Given the description of an element on the screen output the (x, y) to click on. 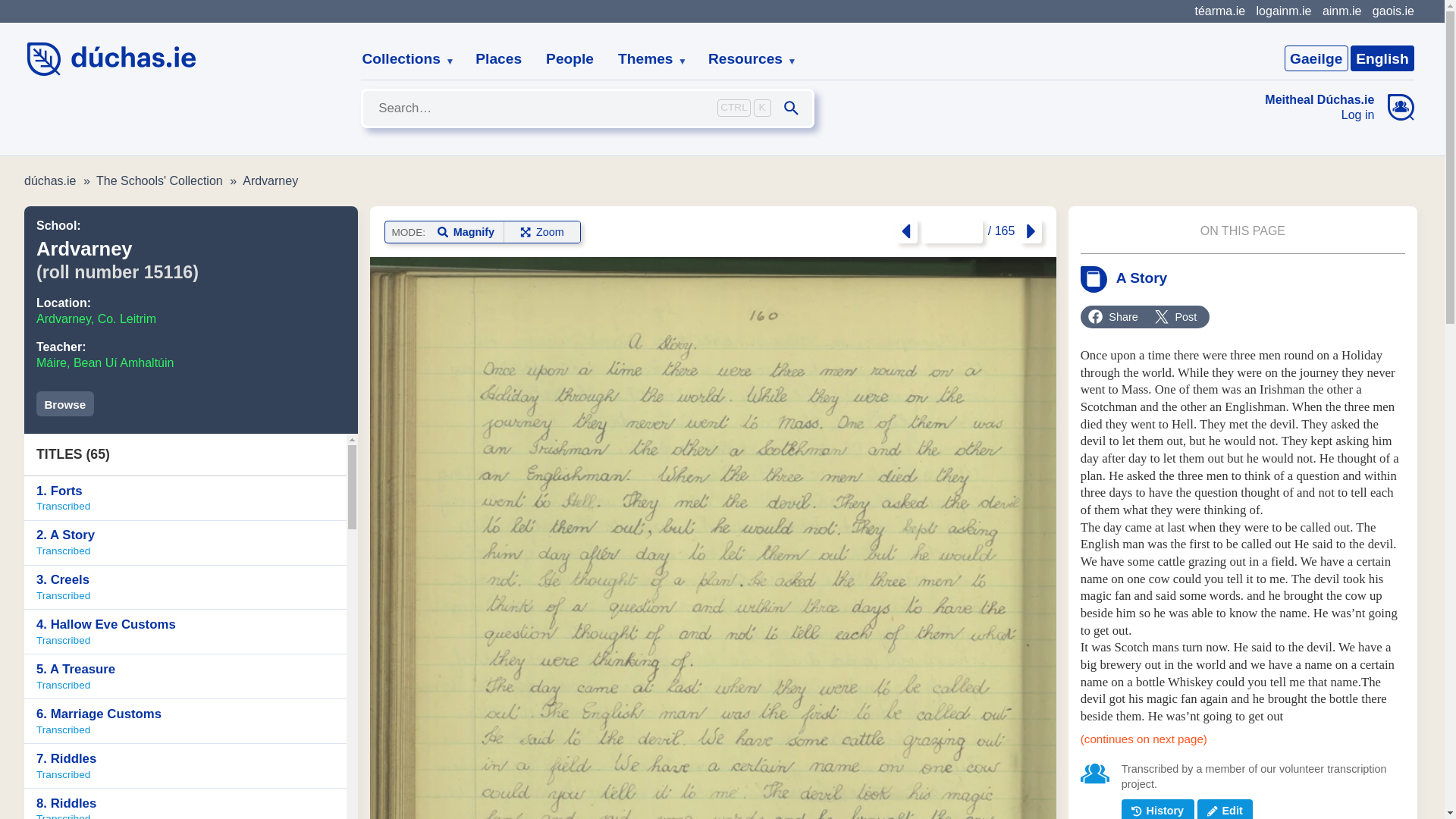
Resources (745, 59)
ainm.ie (1341, 11)
People (569, 58)
Themes (646, 59)
Places (498, 58)
gaois.ie (1393, 11)
English (185, 542)
logainm.ie (1382, 58)
Ardvarney, Co. Leitrim (1283, 11)
Log in (95, 318)
Collections (185, 497)
Browse (1319, 114)
The Schools' Collection (401, 59)
